Given the description of an element on the screen output the (x, y) to click on. 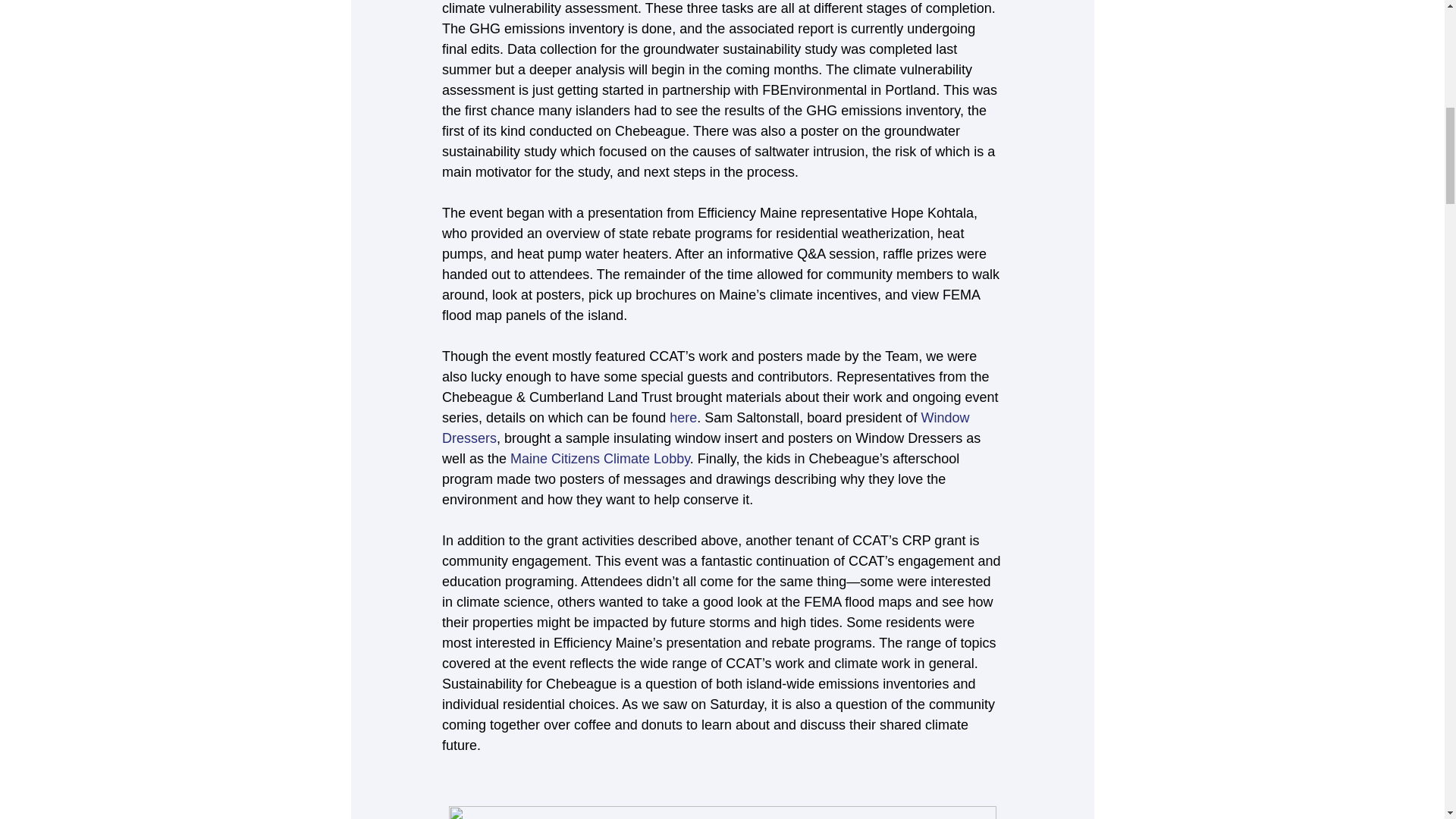
Window Dressers (706, 427)
Maine Citizens Climate Lobby (600, 458)
here (683, 417)
